Given the description of an element on the screen output the (x, y) to click on. 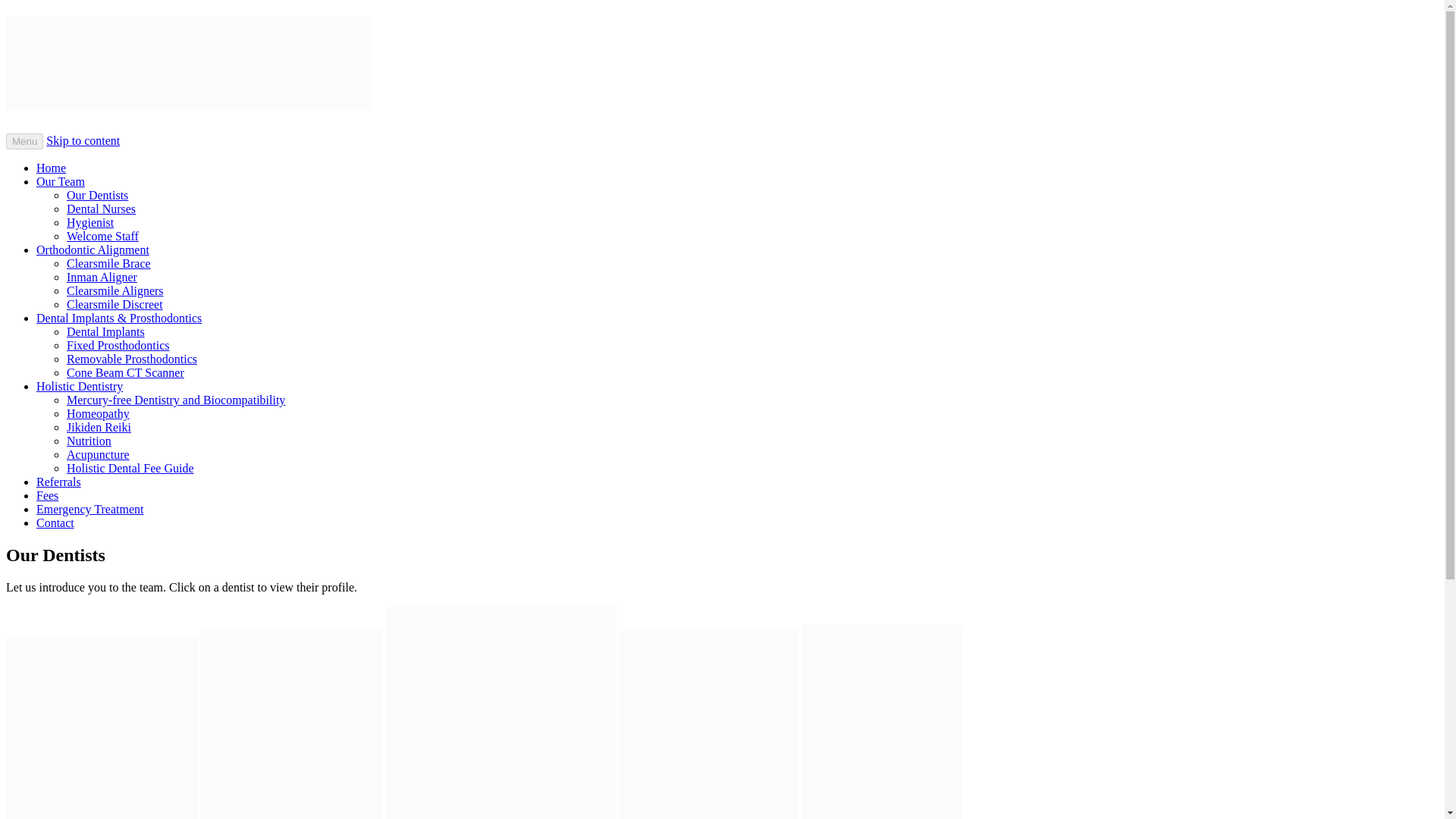
Referrals (58, 481)
Removable Prosthodontics (131, 358)
Hygienist (89, 222)
Homeopathy (97, 413)
Clearsmile Aligners (114, 290)
Fixed Prosthodontics (118, 345)
Cone Beam CT Scanner (125, 372)
Nutrition (89, 440)
Contact (55, 522)
Dental Implants (105, 331)
